Given the description of an element on the screen output the (x, y) to click on. 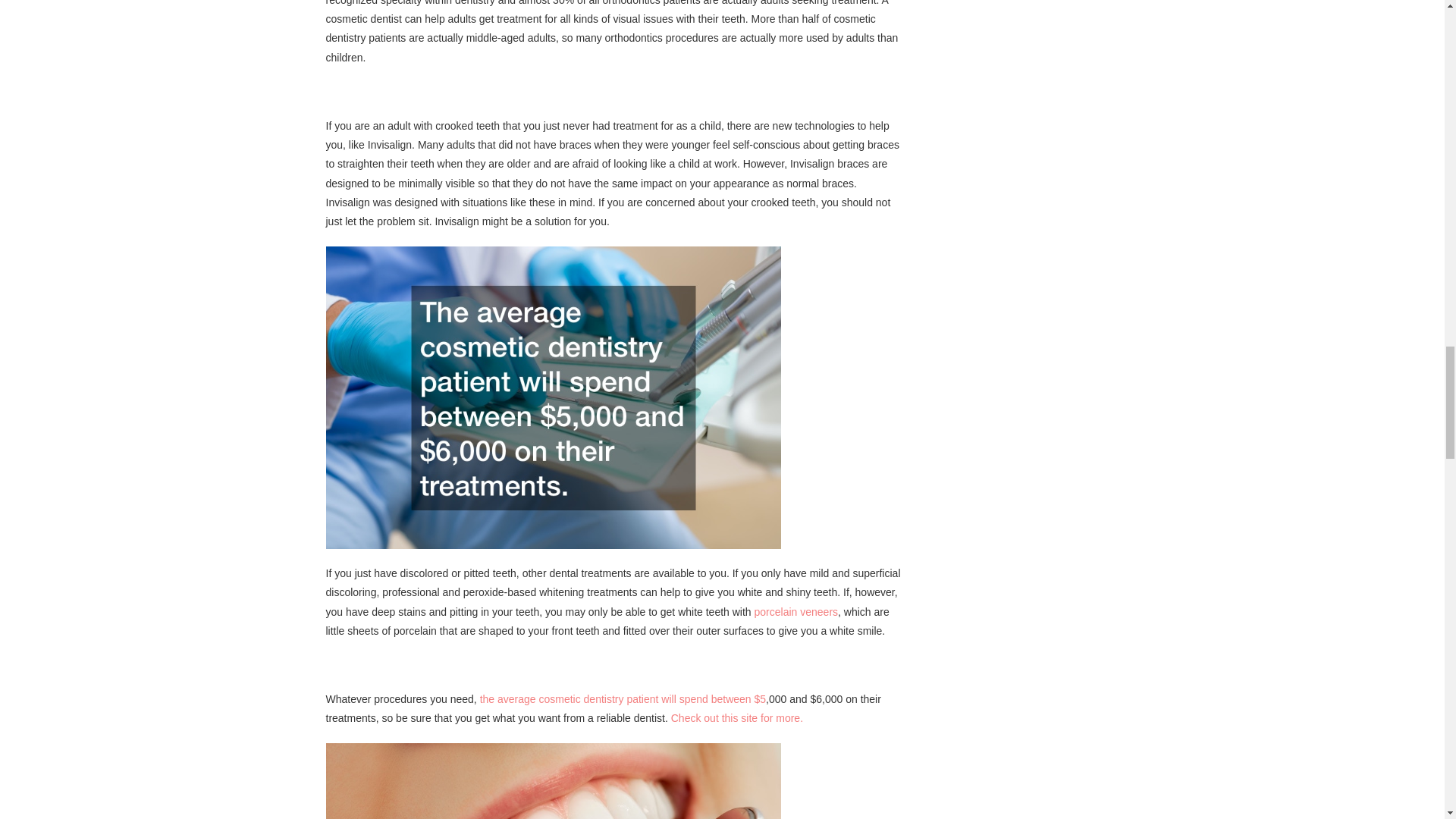
Related to the topic of Dental implants (796, 612)
Check out this site for more. (737, 717)
porcelain veneers (796, 612)
Great find (737, 717)
Dental treatment, Nyc veneers (622, 698)
